Given the description of an element on the screen output the (x, y) to click on. 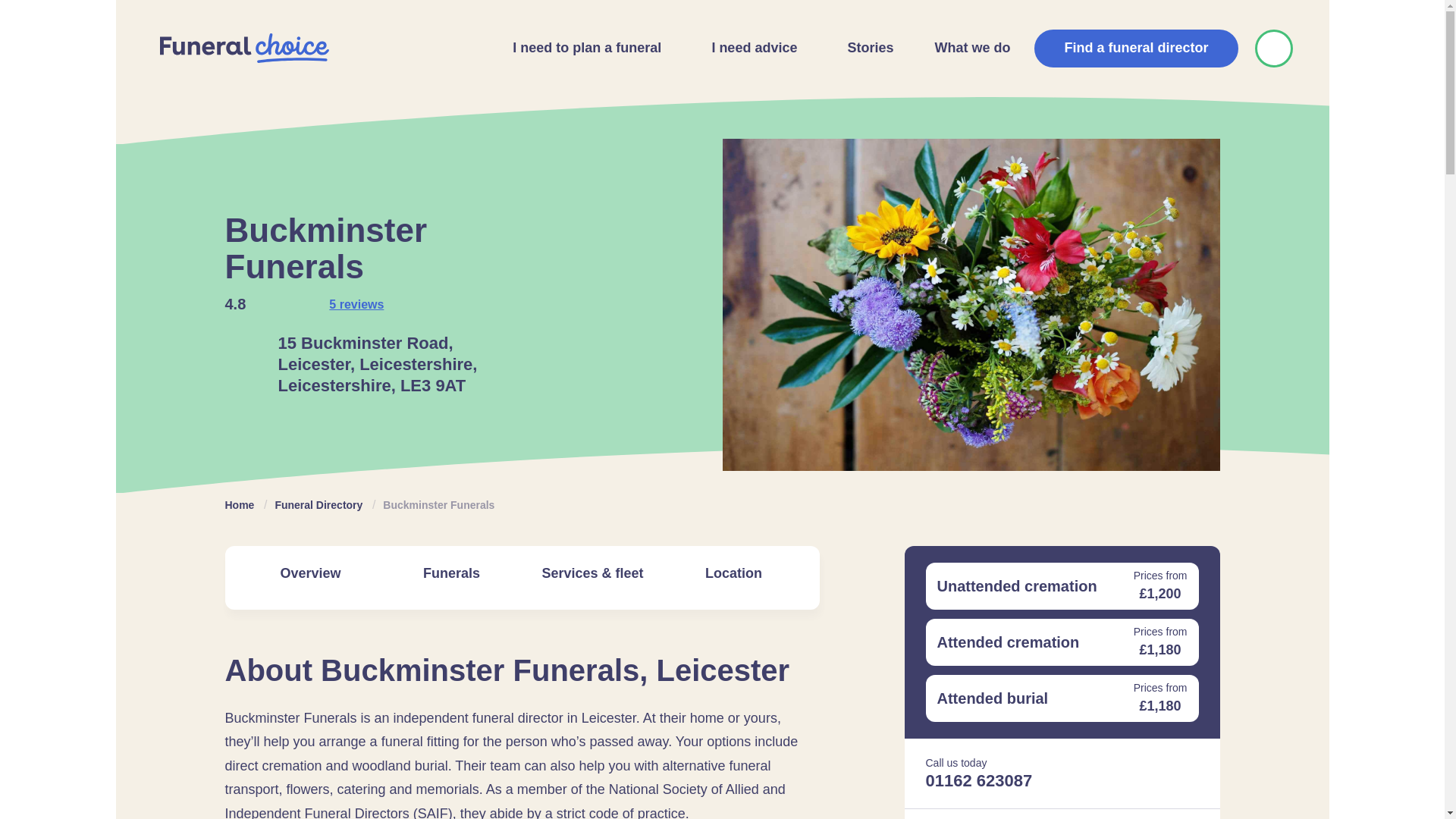
I need to plan a funeral (582, 48)
What we do (967, 48)
Find a funeral director (1135, 48)
Shortlist (1272, 48)
I need advice (749, 48)
